Given the description of an element on the screen output the (x, y) to click on. 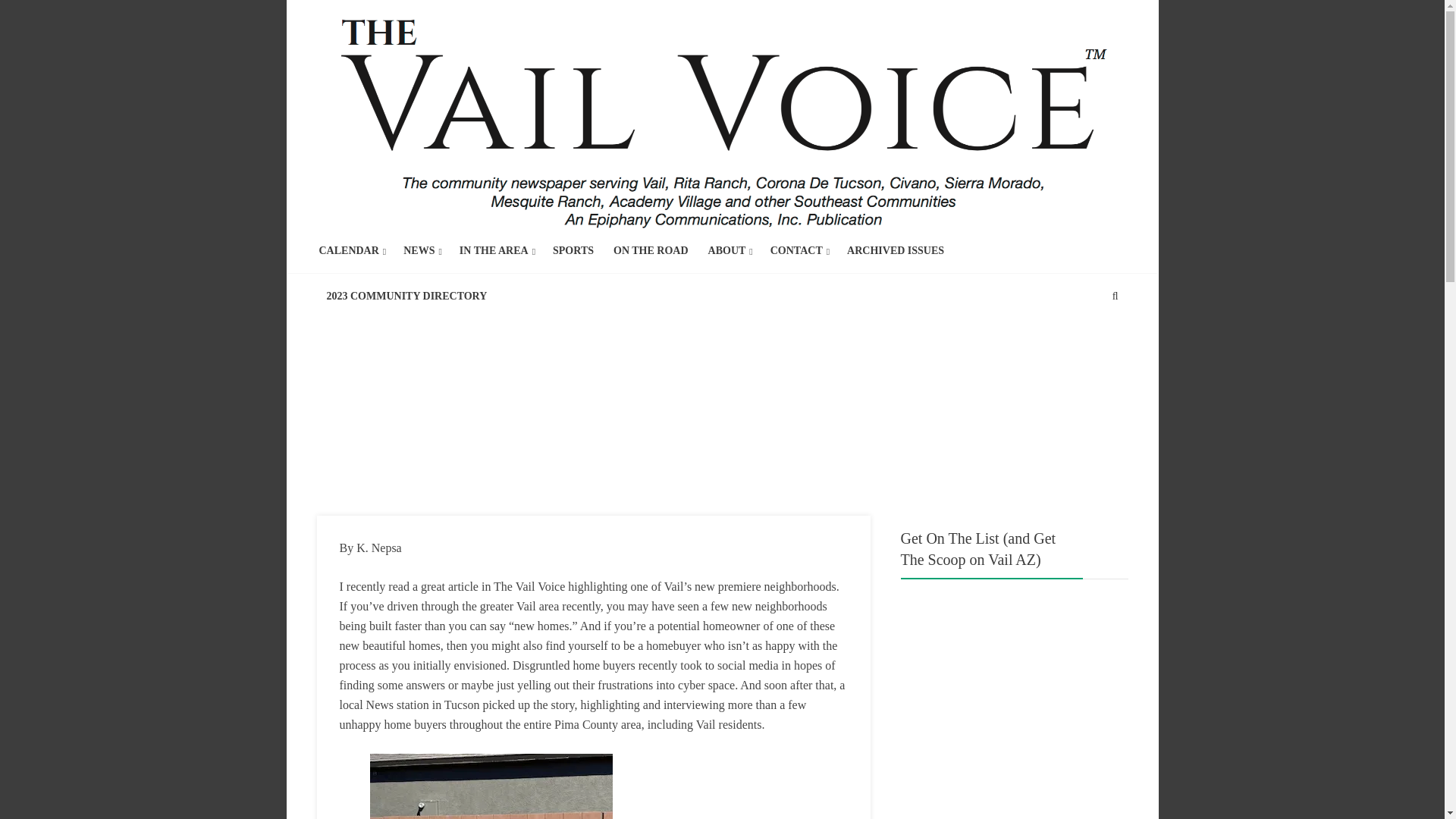
ARCHIVED ISSUES (895, 250)
The Vail Voice (722, 116)
ON THE ROAD (650, 250)
CALENDAR (349, 250)
CONTACT (796, 250)
IN THE AREA (494, 250)
SPORTS (572, 250)
ABOUT (727, 250)
2023 COMMUNITY DIRECTORY (406, 296)
